Given the description of an element on the screen output the (x, y) to click on. 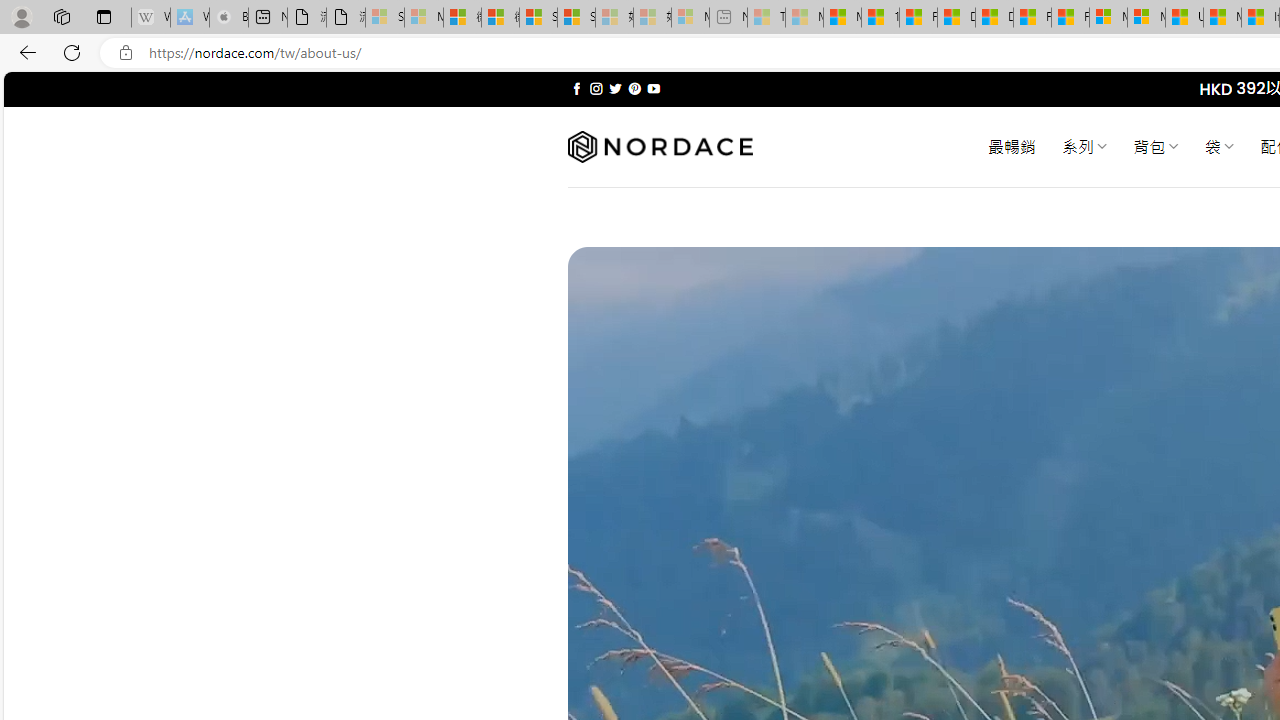
Microsoft account | Account Checkup - Sleeping (690, 17)
Follow on Twitter (615, 88)
Follow on Facebook (576, 88)
Follow on YouTube (653, 88)
